Given the description of an element on the screen output the (x, y) to click on. 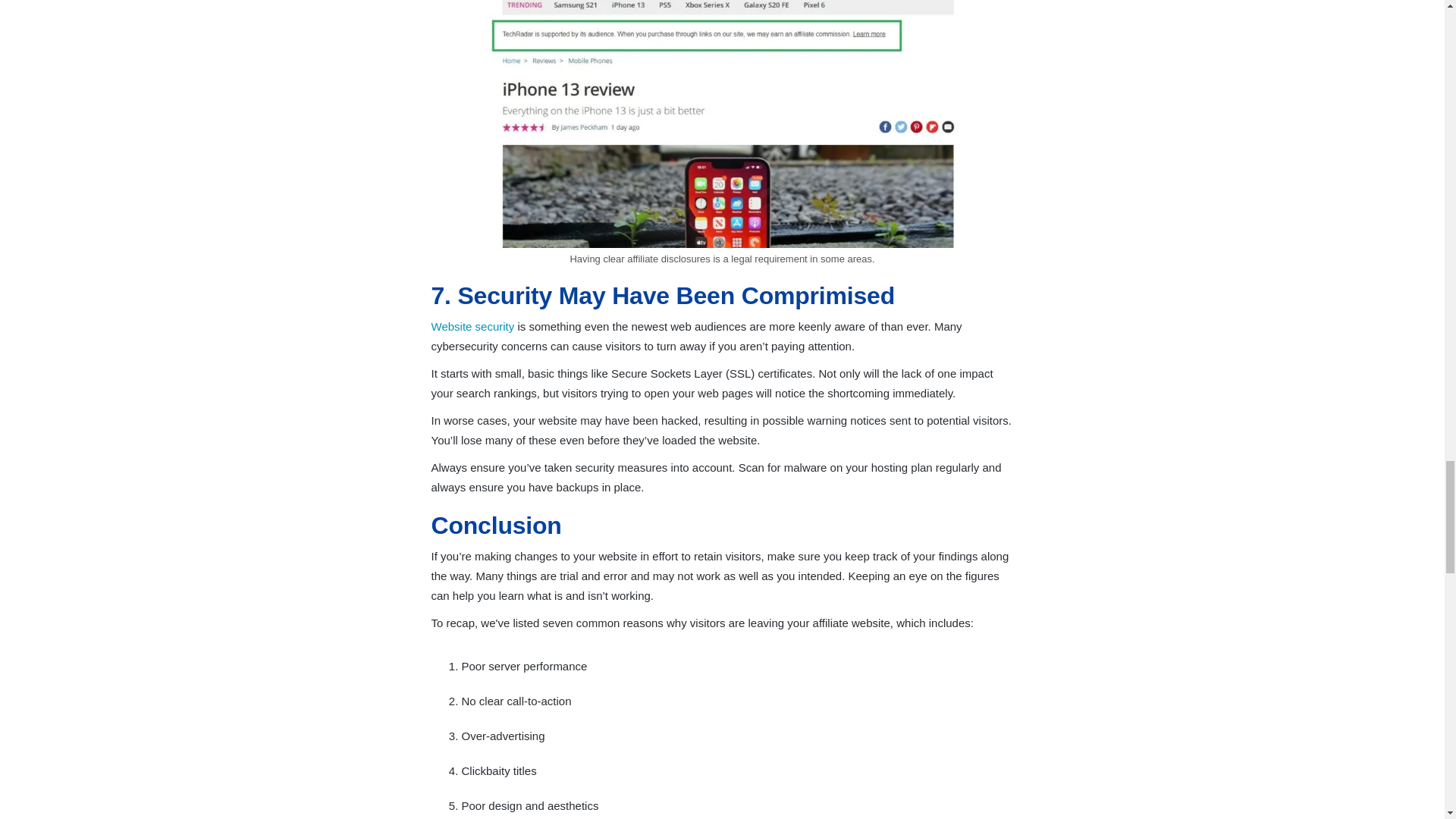
Website security (471, 326)
